Given the description of an element on the screen output the (x, y) to click on. 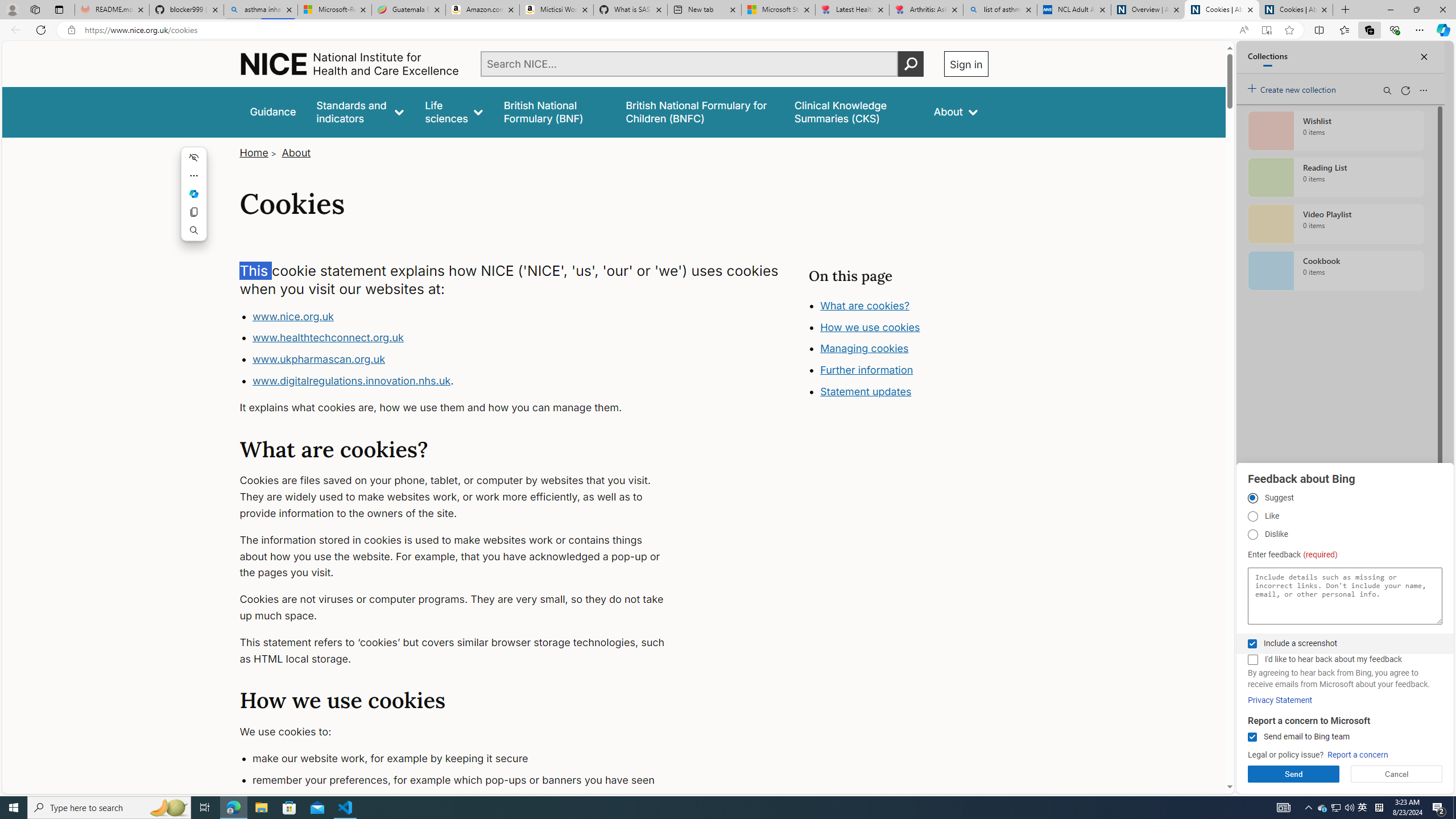
www.nice.org.uk (464, 316)
www.healthtechconnect.org.uk (327, 337)
Class: in-page-nav__list (898, 349)
More actions (194, 175)
Guidance (272, 111)
Life sciences (453, 111)
I'd like to hear back about my feedback (1252, 659)
